Given the description of an element on the screen output the (x, y) to click on. 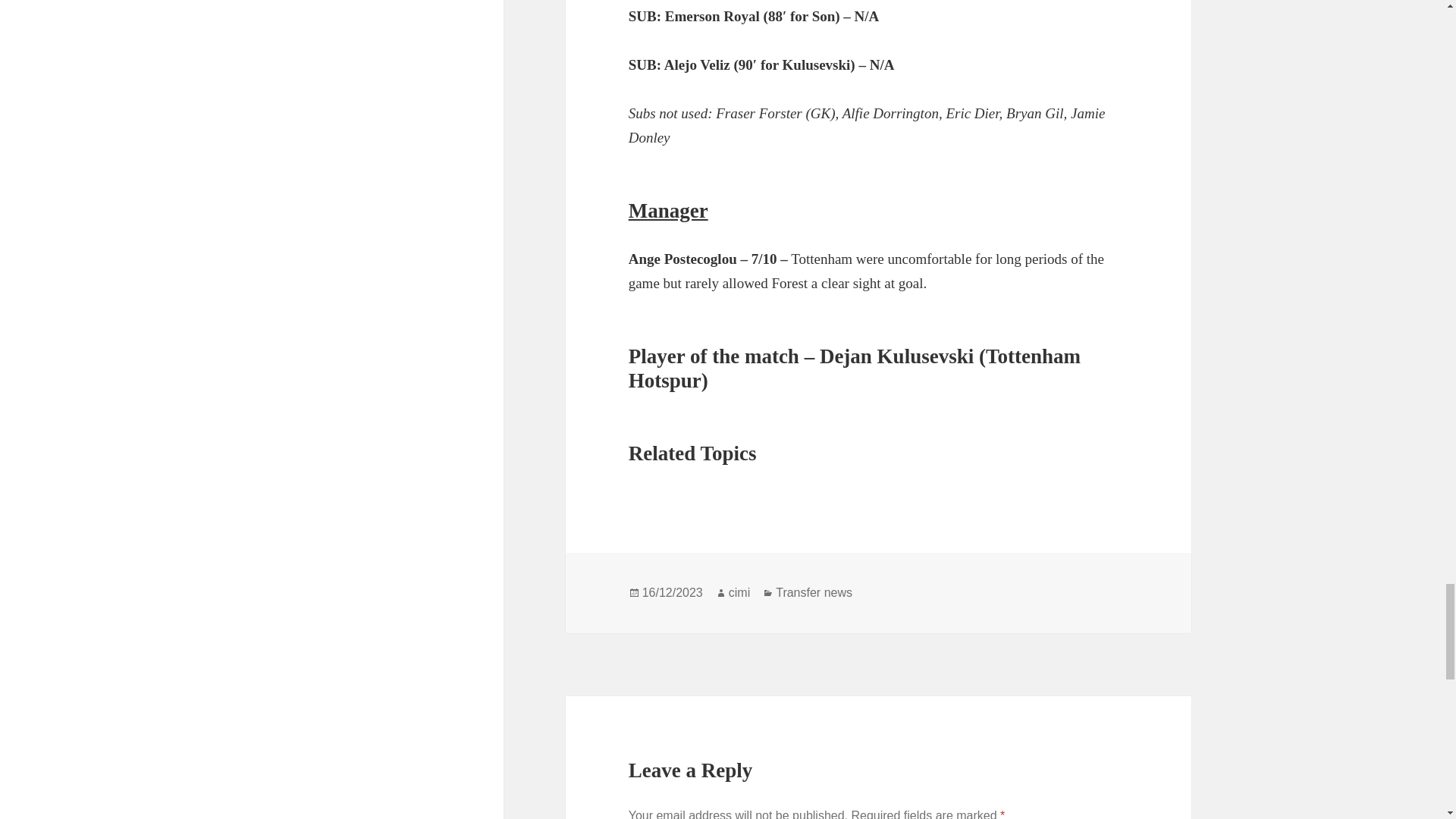
Transfer news (813, 592)
cimi (739, 592)
